Given the description of an element on the screen output the (x, y) to click on. 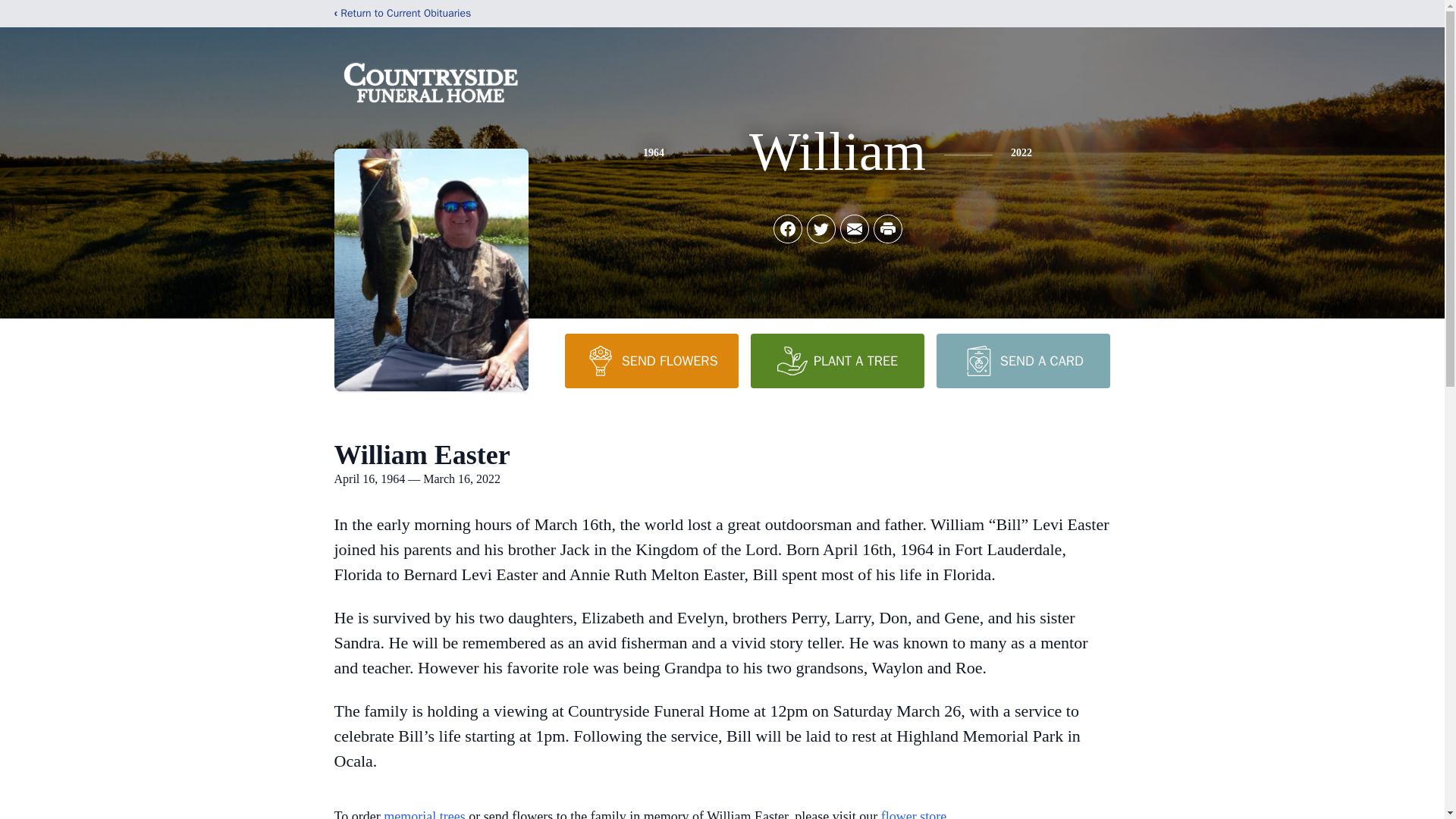
flower store (913, 814)
memorial trees (424, 814)
PLANT A TREE (837, 360)
SEND A CARD (1022, 360)
SEND FLOWERS (651, 360)
